Given the description of an element on the screen output the (x, y) to click on. 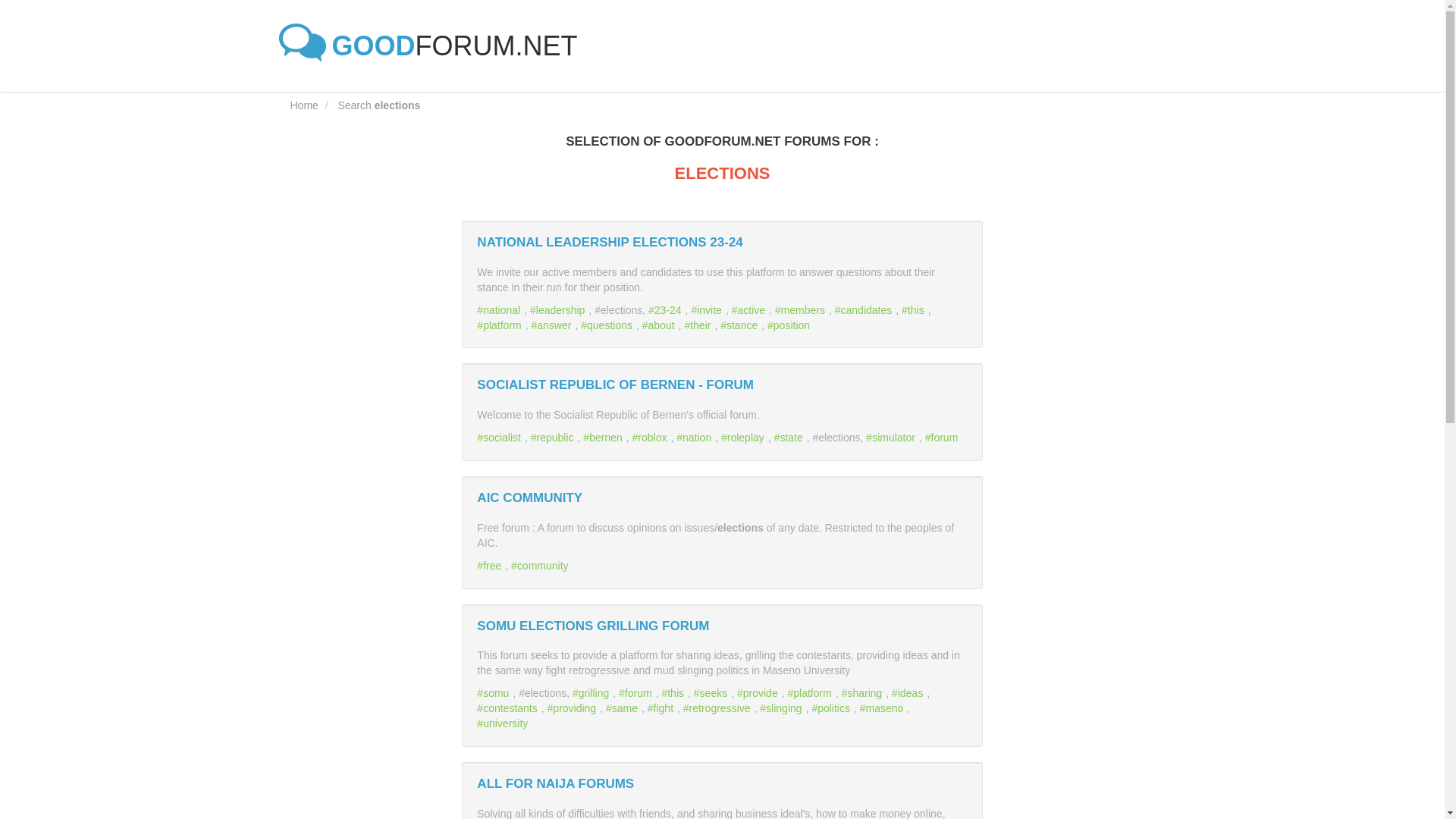
republic (554, 437)
somu (494, 693)
platform (500, 324)
forum (637, 693)
roblox (651, 437)
community (541, 565)
their (699, 324)
platform (810, 693)
seeks (712, 693)
NATIONAL LEADERSHIP ELECTIONS 23-24 (609, 242)
state (790, 437)
bernen (604, 437)
leadership (558, 309)
this (674, 693)
members (801, 309)
